Given the description of an element on the screen output the (x, y) to click on. 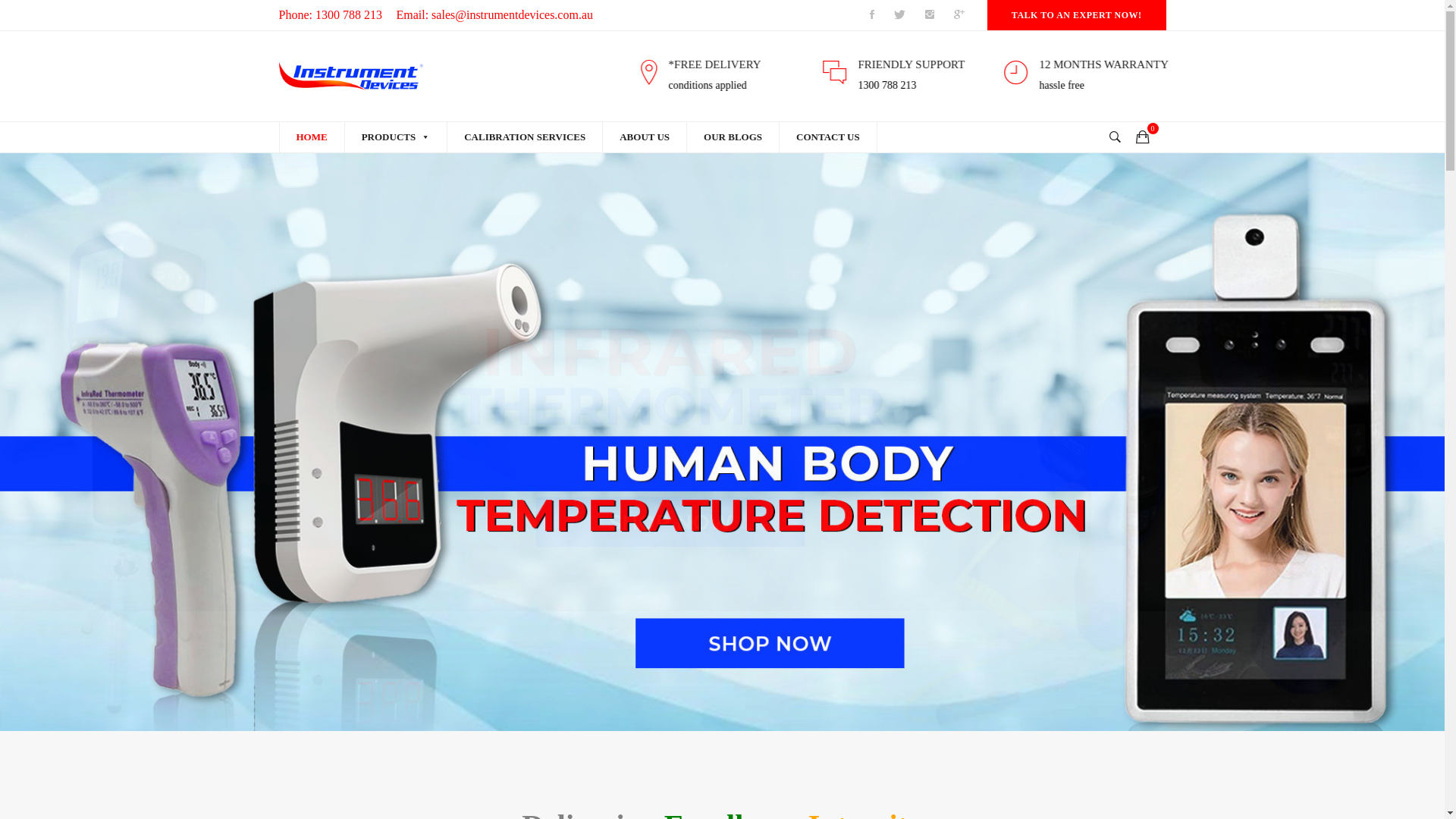
PRODUCTS Element type: text (395, 137)
Email: sales@instrumentdevices.com.au Element type: text (494, 14)
OUR BLOGS Element type: text (732, 137)
HOME Element type: text (311, 137)
TALK TO AN EXPERT NOW! Element type: text (1076, 15)
CALIBRATION SERVICES Element type: text (524, 137)
Phone: 1300 788 213 Element type: text (330, 14)
CONTACT US Element type: text (827, 137)
View your shopping cart Element type: hover (1146, 136)
ABOUT US Element type: text (644, 137)
